Given the description of an element on the screen output the (x, y) to click on. 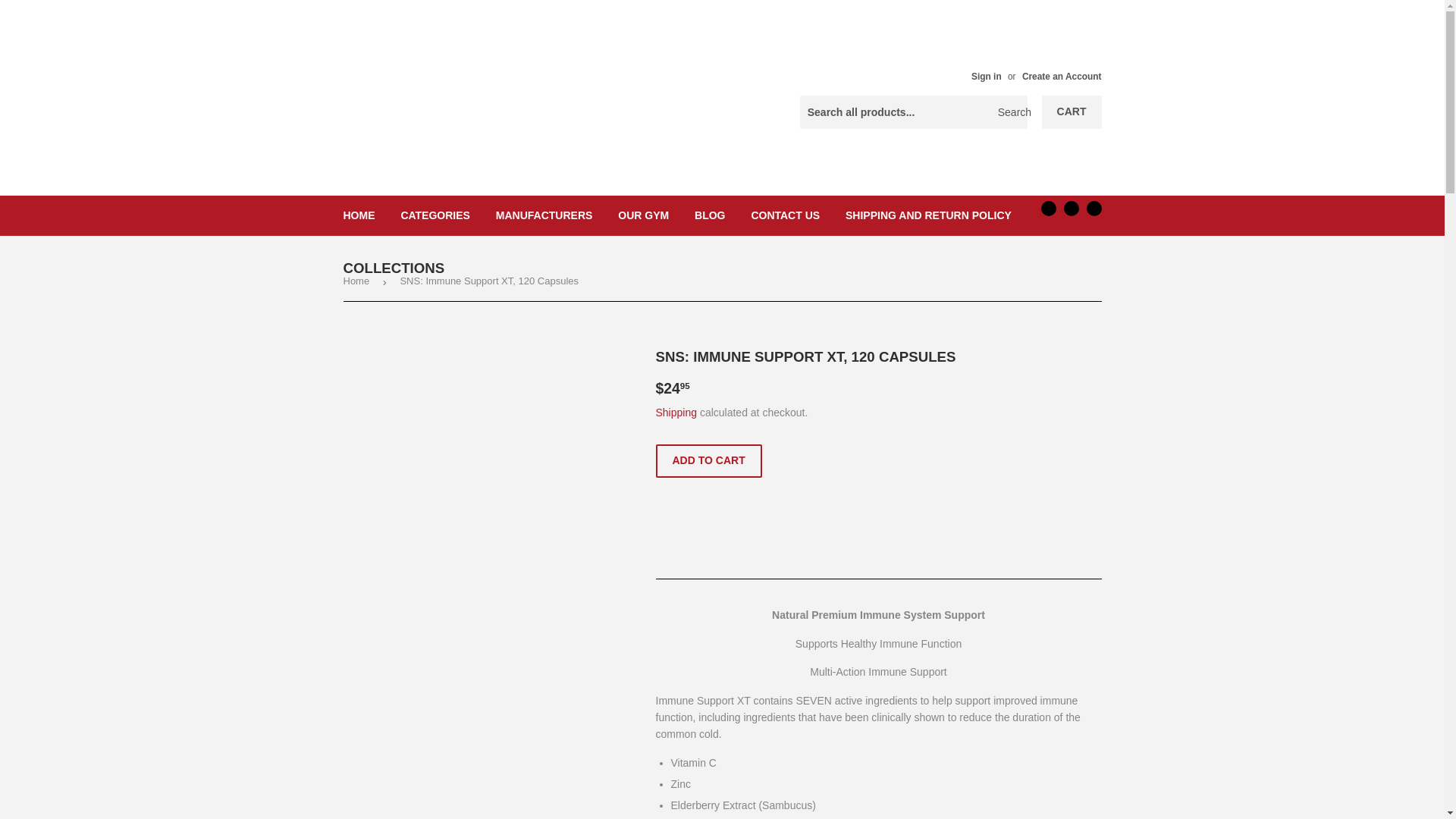
Search (1009, 112)
Sign in (986, 76)
Lockout Supplements on Instagram (1093, 208)
Create an Account (1062, 76)
Lockout Supplements on Facebook (1070, 208)
CART (1072, 111)
Lockout Supplements on Twitter (1048, 208)
